Given the description of an element on the screen output the (x, y) to click on. 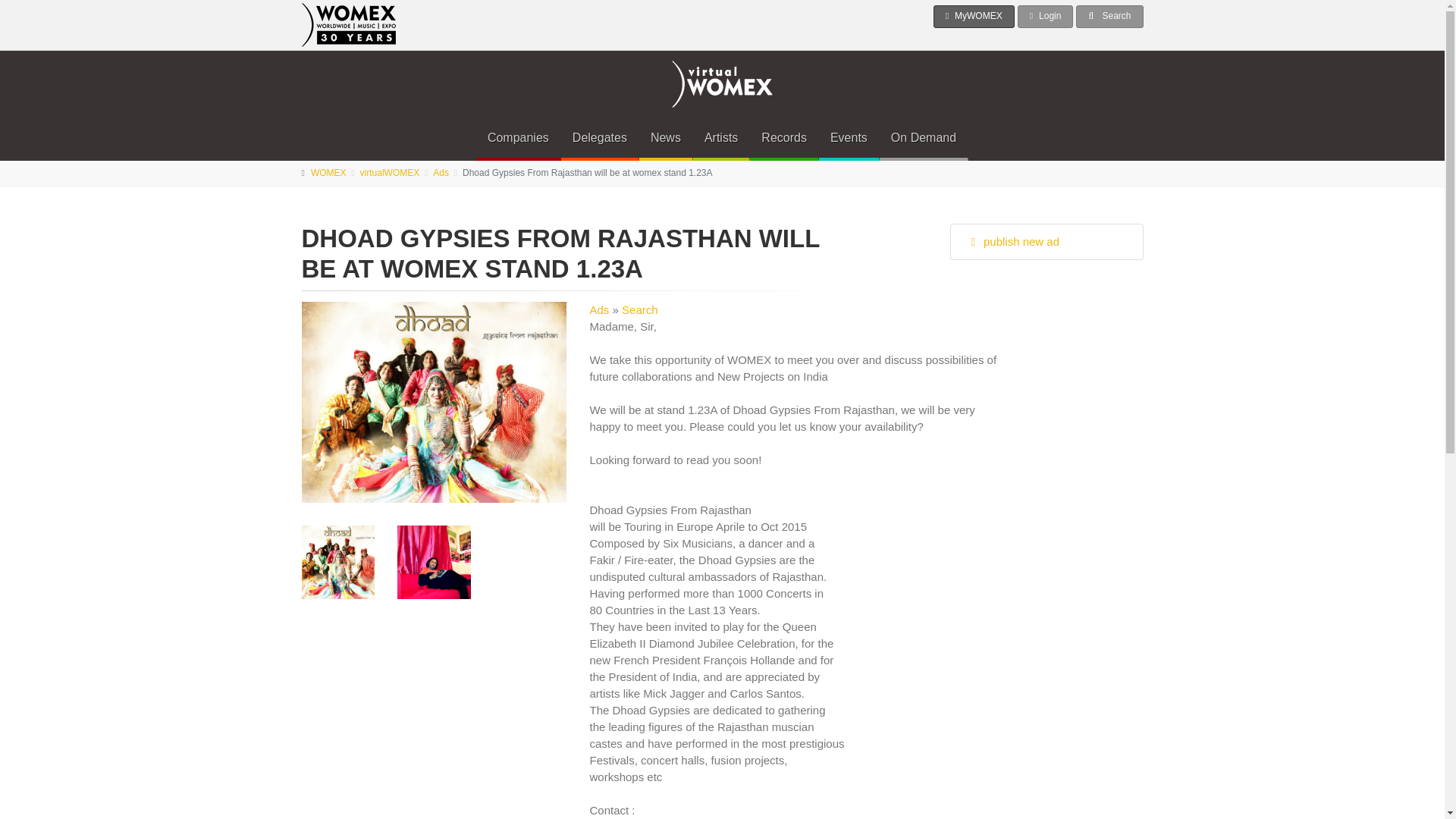
Dhoad Gypsies From Rajasthan - India (338, 561)
Dhoad Gypsies From Rajasthan - India (433, 561)
Records (783, 138)
News (666, 138)
publish new ad (1045, 241)
MyWOMEX (973, 15)
Login (1045, 15)
Ads (440, 172)
Delegates (599, 138)
On Demand (923, 138)
WOMEX (328, 172)
Events (848, 138)
virtualWOMEX (389, 172)
Companies (518, 138)
Artists (721, 138)
